Given the description of an element on the screen output the (x, y) to click on. 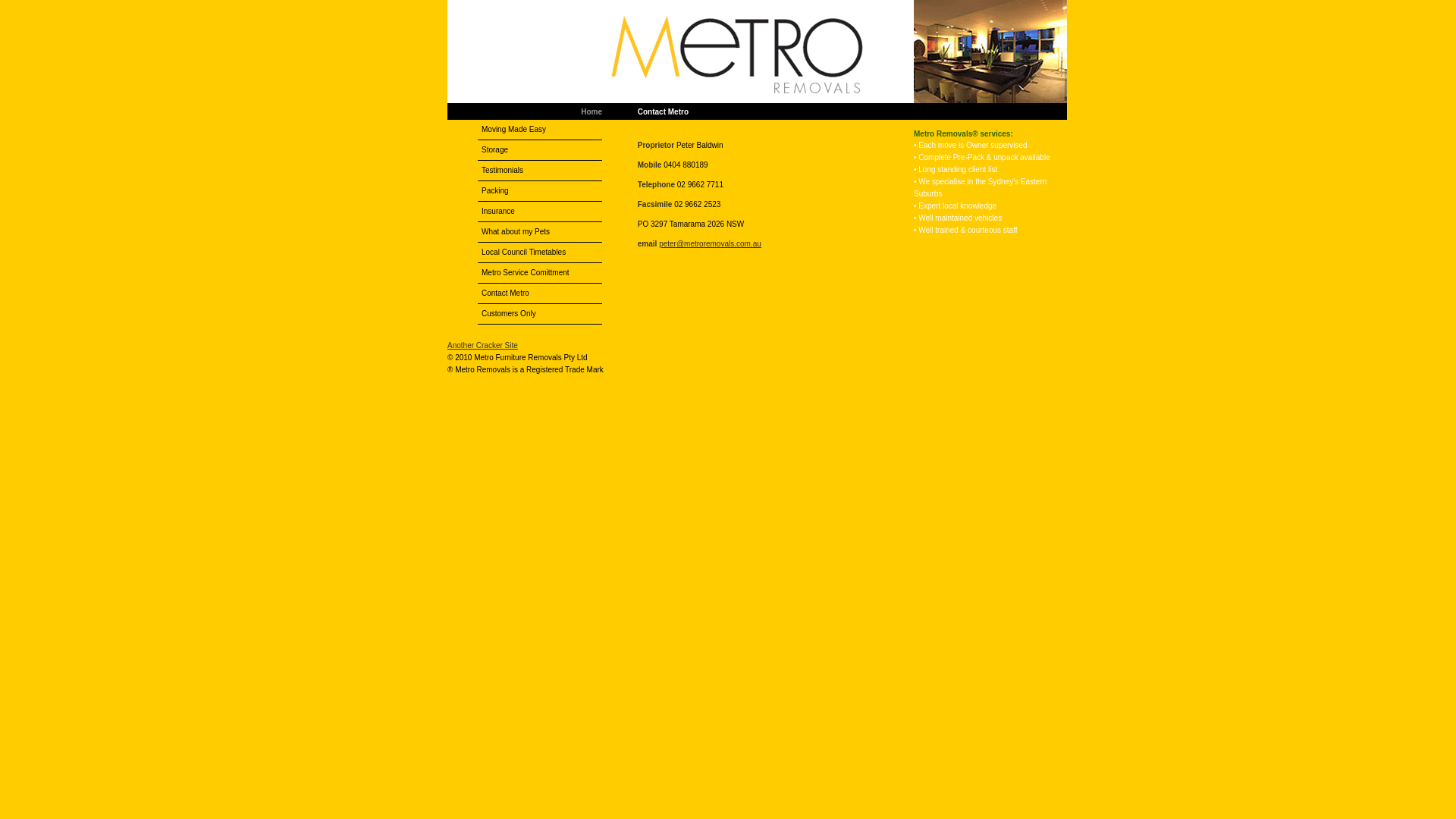
Storage Element type: text (539, 150)
Moving Made Easy Element type: text (539, 129)
peter@metroremovals.com.au Element type: text (709, 243)
Packing Element type: text (539, 190)
Local Council Timetables Element type: text (539, 252)
Metro Service Comittment Element type: text (539, 272)
What about my Pets Element type: text (539, 231)
Insurance Element type: text (539, 211)
Customers Only Element type: text (539, 313)
Another Cracker Site Element type: text (482, 345)
Home Element type: text (591, 111)
Testimonials Element type: text (539, 170)
Contact Metro Element type: text (539, 293)
